Given the description of an element on the screen output the (x, y) to click on. 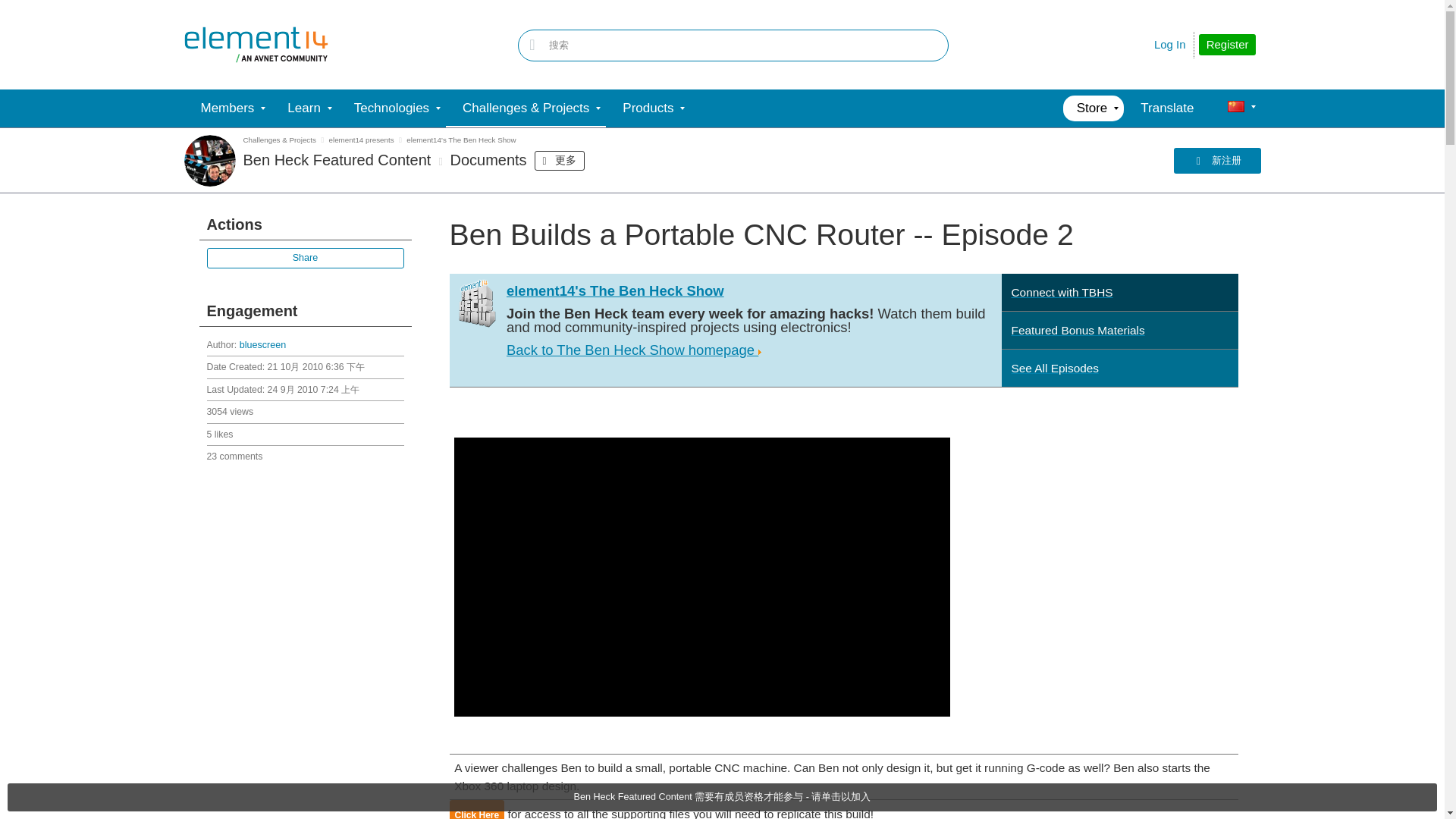
Members (226, 108)
Register (1226, 44)
Log In (1170, 44)
Register (1226, 44)
Log In (1170, 44)
Technologies (391, 108)
Learn (303, 108)
